Given the description of an element on the screen output the (x, y) to click on. 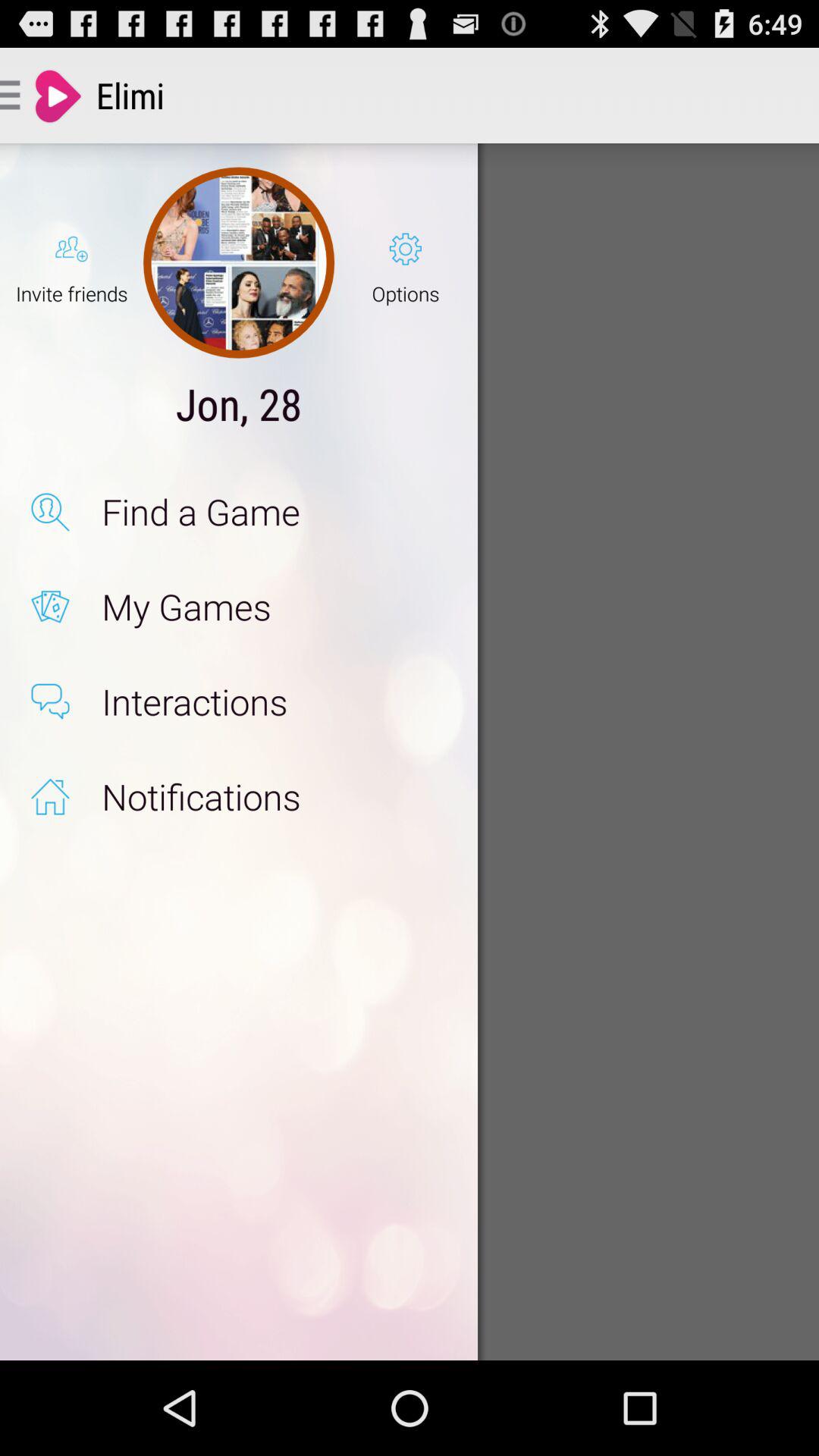
turn on the item above the jon, 28 icon (238, 262)
